Given the description of an element on the screen output the (x, y) to click on. 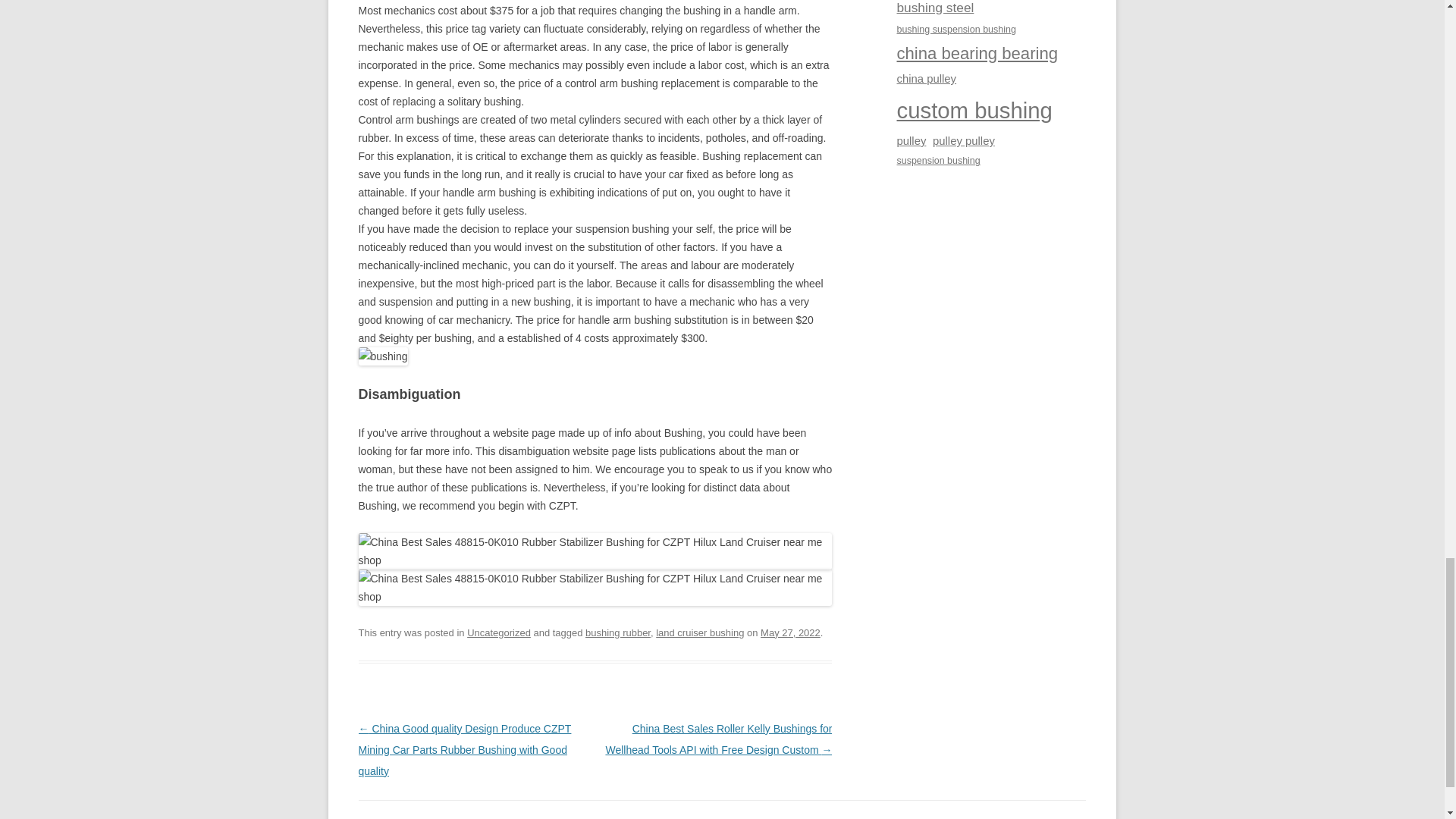
May 27, 2022 (790, 632)
land cruiser bushing (700, 632)
bushing rubber (617, 632)
Uncategorized (499, 632)
10:28 pm (790, 632)
